Given the description of an element on the screen output the (x, y) to click on. 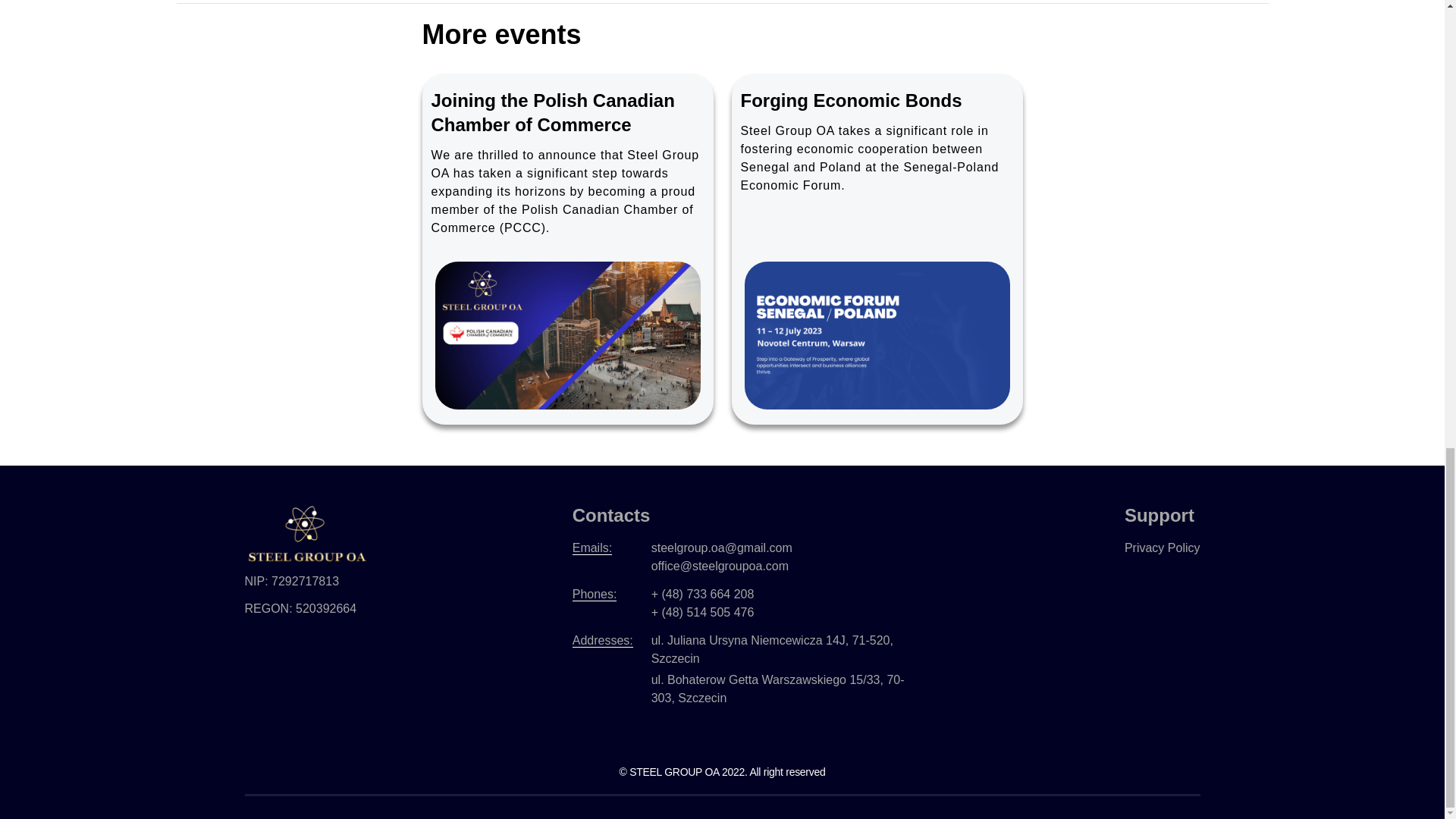
Privacy Policy (1161, 547)
